Given the description of an element on the screen output the (x, y) to click on. 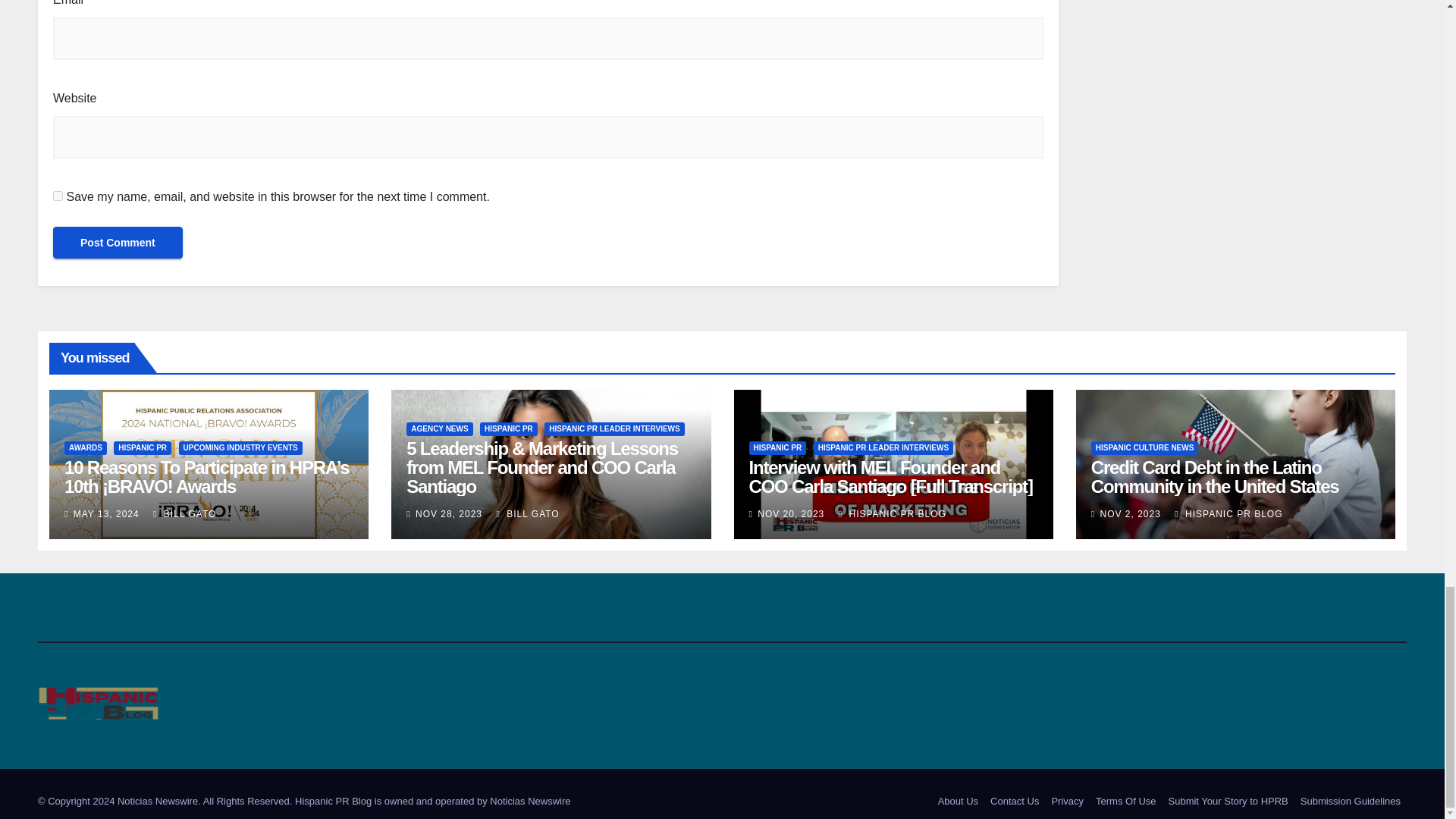
Post Comment (117, 242)
yes (57, 195)
